Given the description of an element on the screen output the (x, y) to click on. 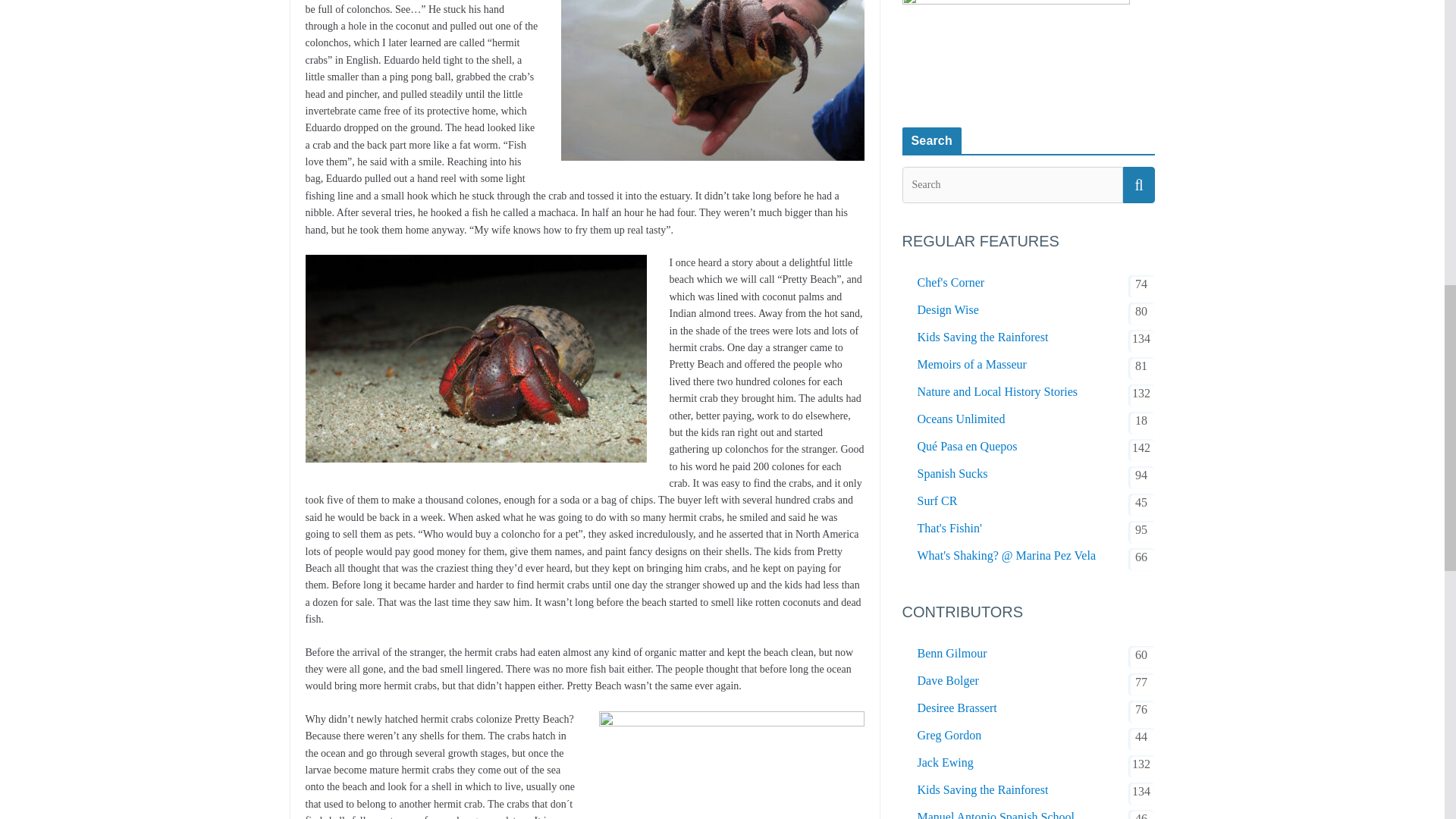
Jack Ewing (945, 762)
Dave Bolger (947, 680)
Manuel Antonio Spanish School (996, 813)
Surf CR (937, 501)
Memoirs of a Masseur (971, 364)
Kids Saving the Rainforest (982, 790)
Design Wise (947, 310)
That's Fishin' (949, 528)
Kids Saving the Rainforest (982, 337)
Desiree Brassert (957, 708)
